Given the description of an element on the screen output the (x, y) to click on. 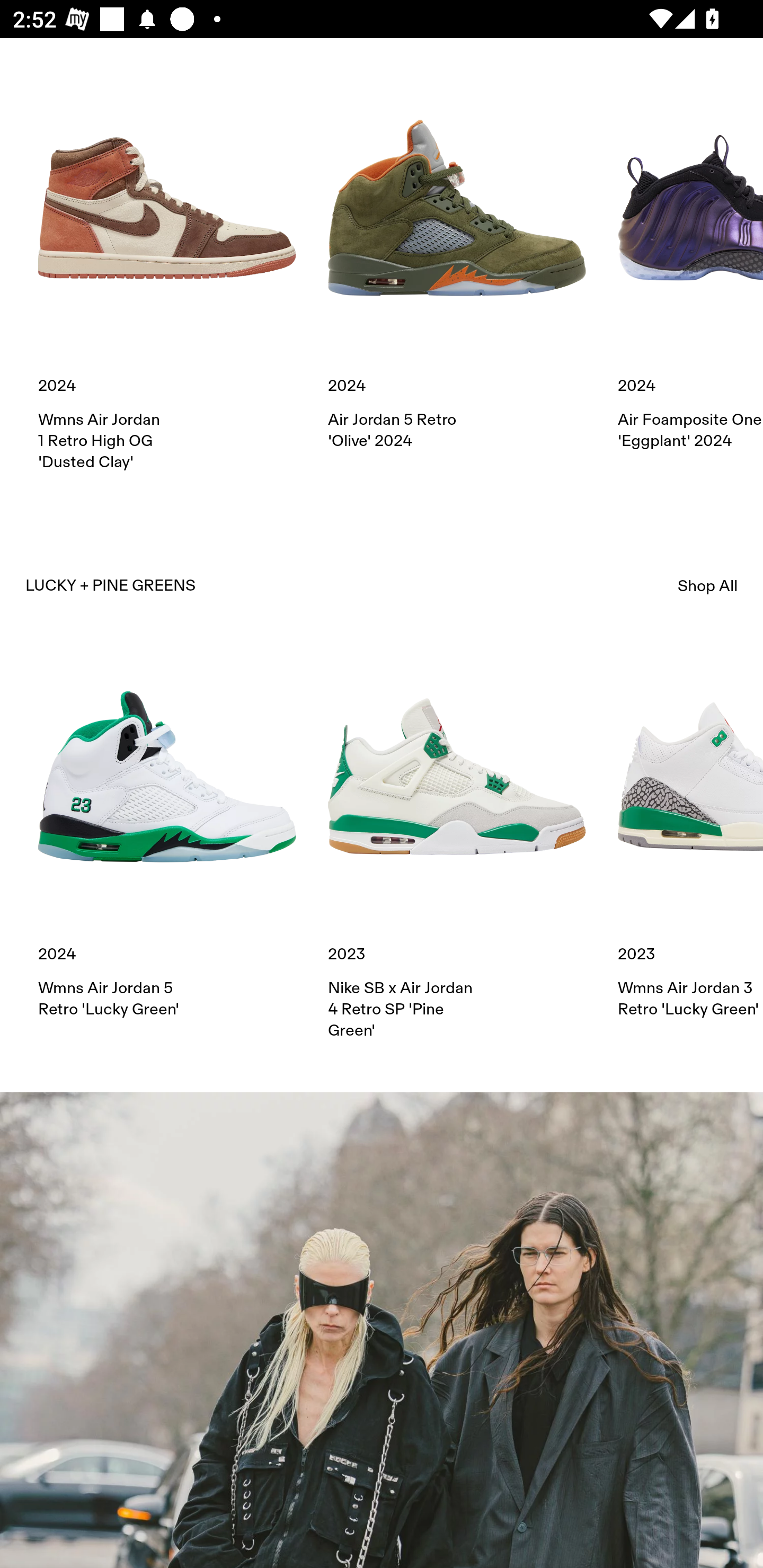
2024 Wmns Air Jordan 1 Retro High OG 'Dusted Clay' (167, 275)
2024 Air Jordan 5 Retro 'Olive' 2024 (456, 264)
2024 Air Foamposite One 'Eggplant' 2024 (690, 264)
Shop All (707, 585)
2024 Wmns Air Jordan 5 Retro 'Lucky Green' (167, 833)
2023 Nike SB x Air Jordan 4 Retro SP 'Pine Green' (456, 844)
2023 Wmns Air Jordan 3 Retro 'Lucky Green' (690, 833)
